Given the description of an element on the screen output the (x, y) to click on. 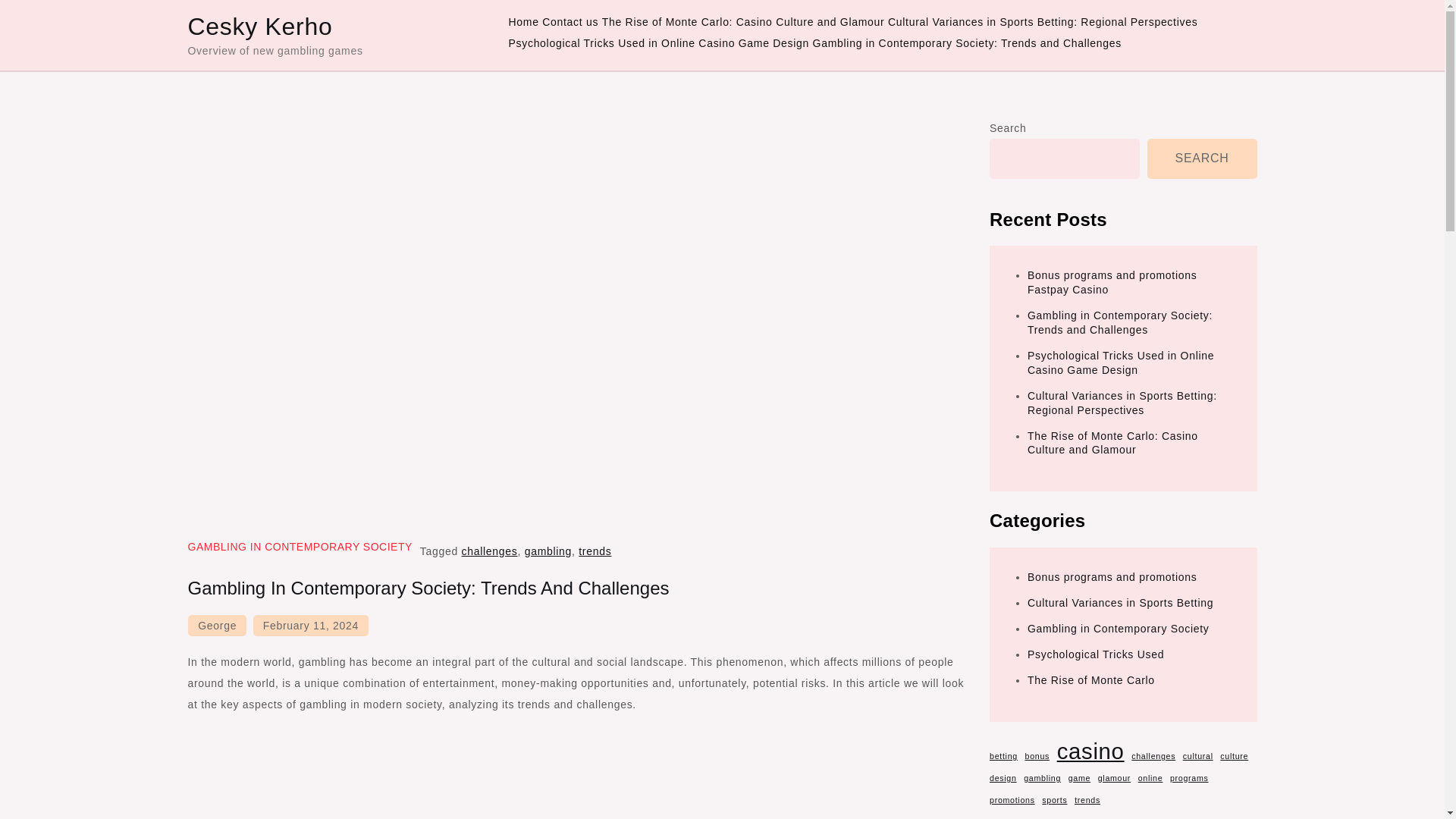
Bonus programs and promotions (1111, 576)
gambling (548, 551)
Psychological Tricks Used in Online Casino Game Design (658, 43)
SEARCH (1202, 158)
challenges (1152, 755)
Psychological Tricks Used (1095, 654)
culture (1233, 755)
Gambling in Contemporary Society: Trends and Challenges (1119, 322)
online (1150, 777)
Contact us (569, 21)
